Given the description of an element on the screen output the (x, y) to click on. 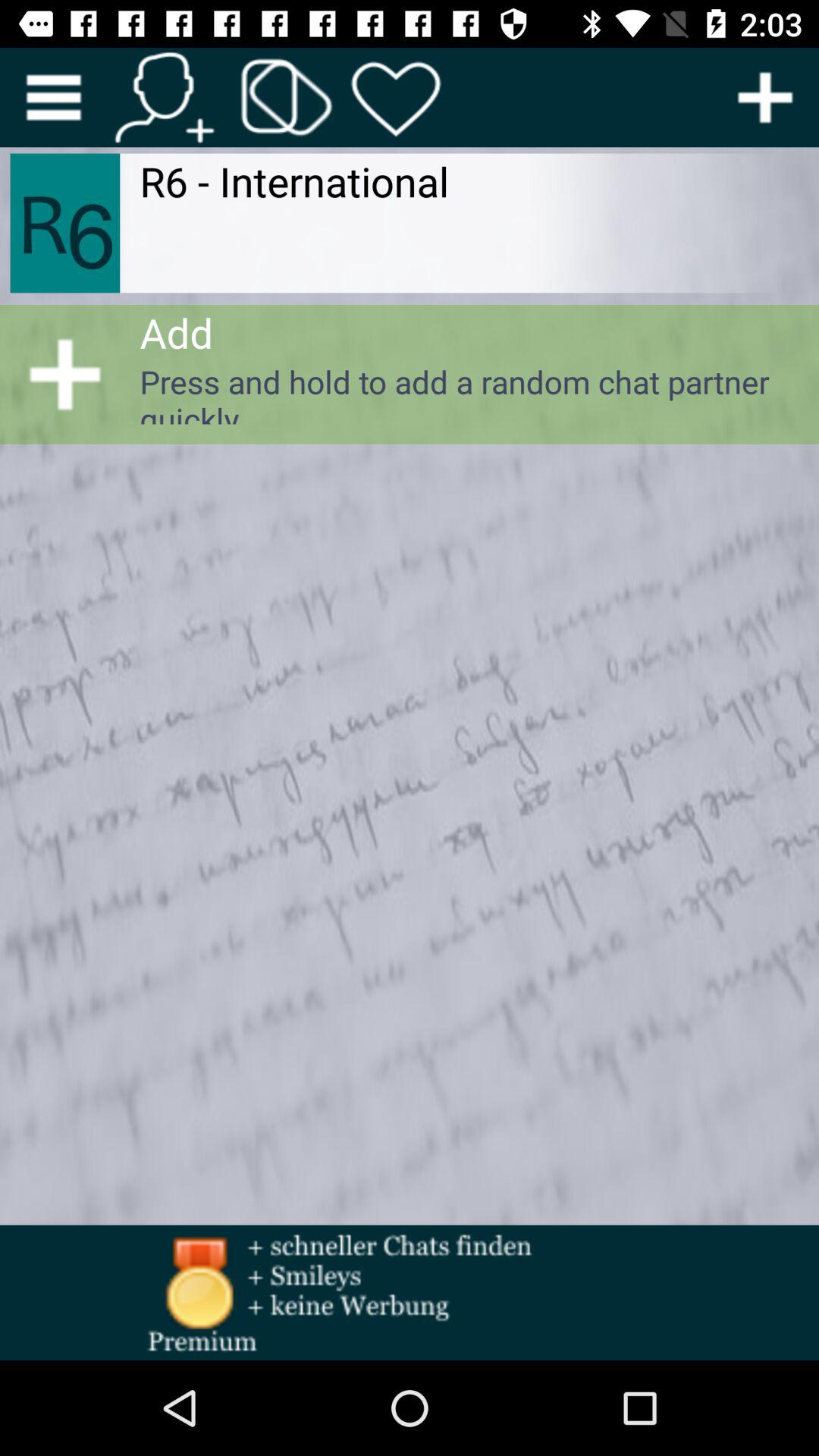
cross phone options (286, 97)
